Given the description of an element on the screen output the (x, y) to click on. 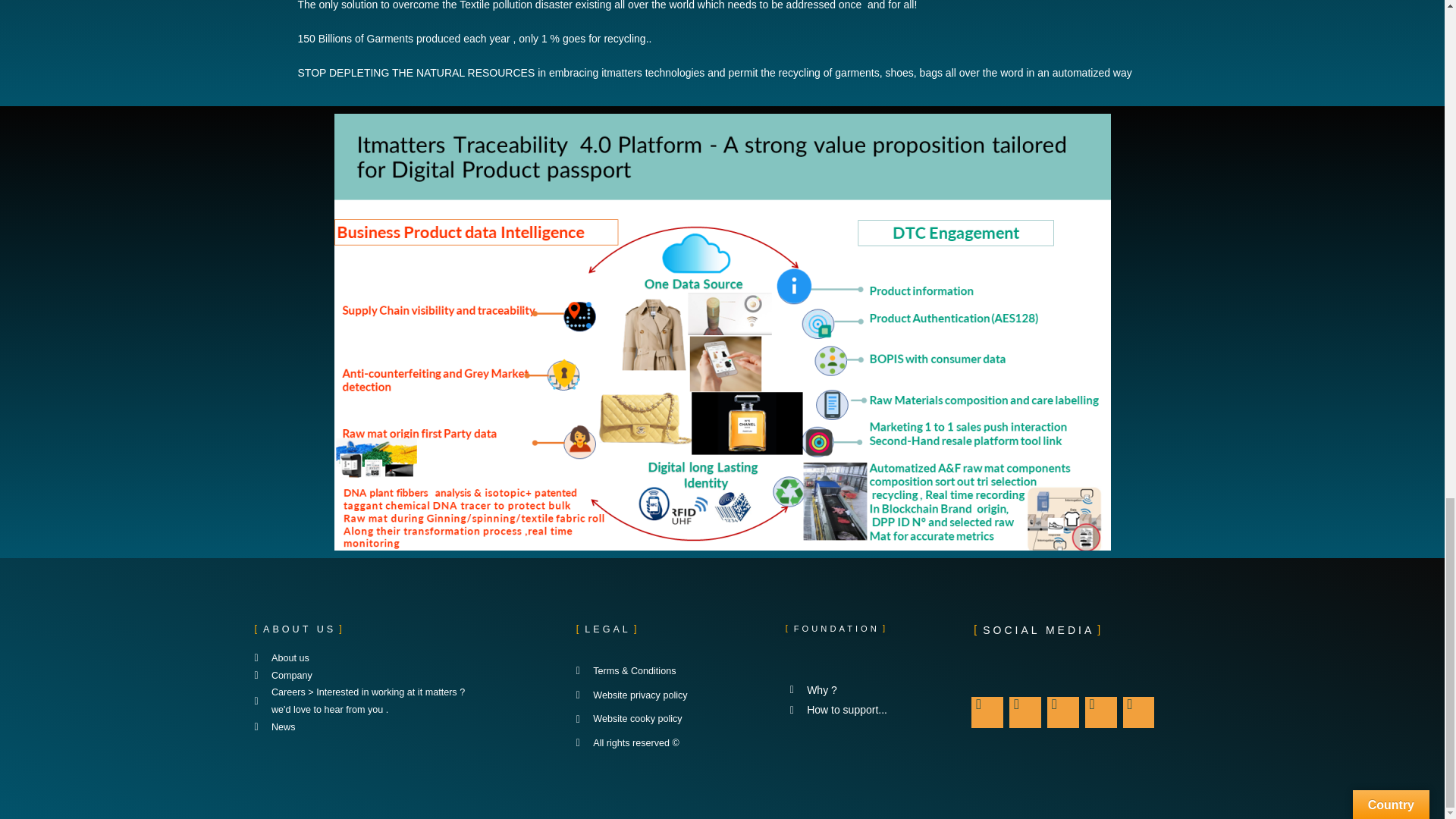
How to support... (854, 710)
News (407, 727)
About us (407, 658)
Website privacy policy (673, 695)
Website cooky policy (673, 719)
Company (407, 675)
Why ? (854, 690)
